Given the description of an element on the screen output the (x, y) to click on. 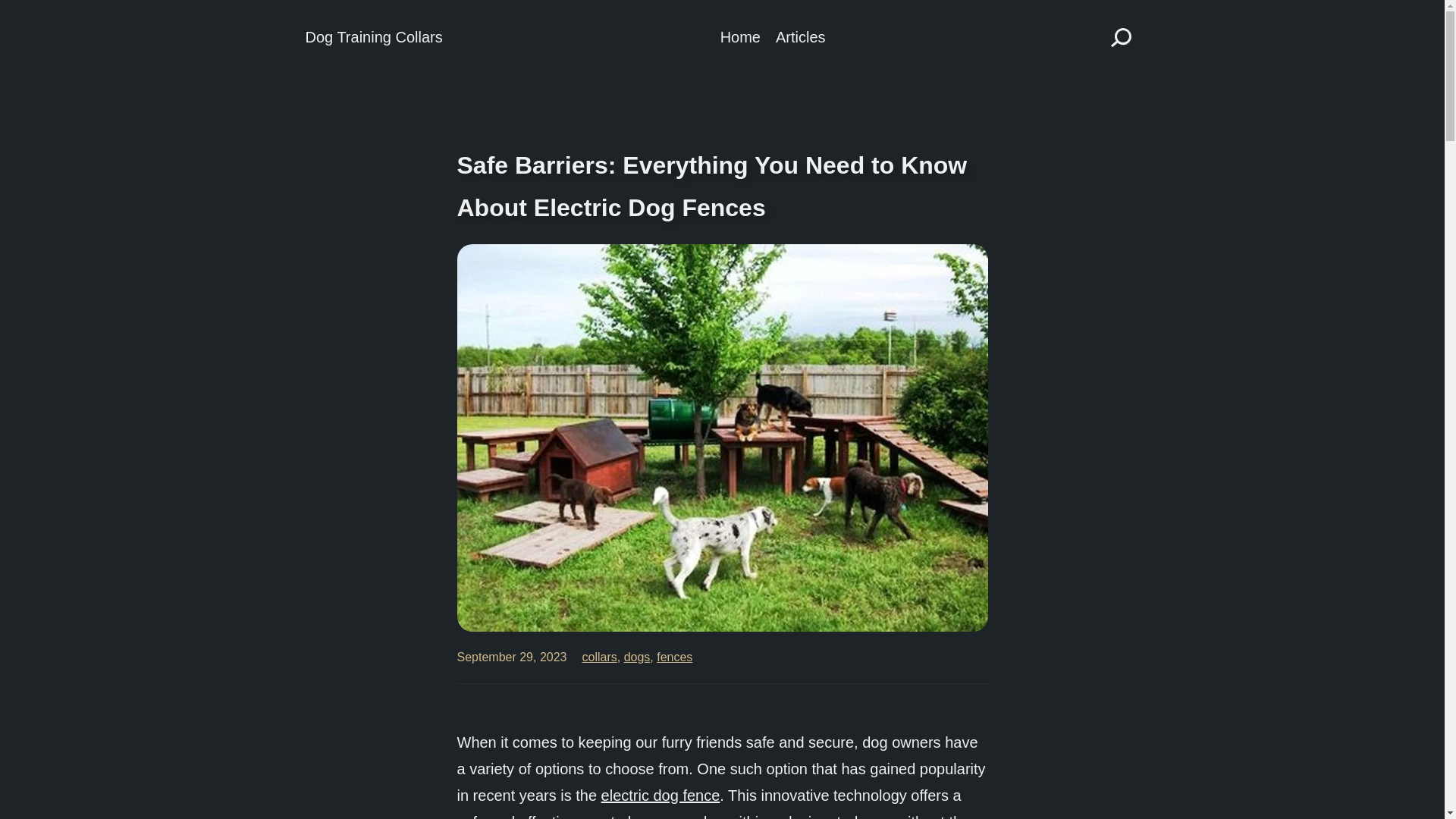
fences (674, 656)
dogs (637, 656)
Home (740, 37)
Dog Training Collars (373, 36)
Articles (800, 37)
collars (599, 656)
electric dog fence (660, 795)
